Given the description of an element on the screen output the (x, y) to click on. 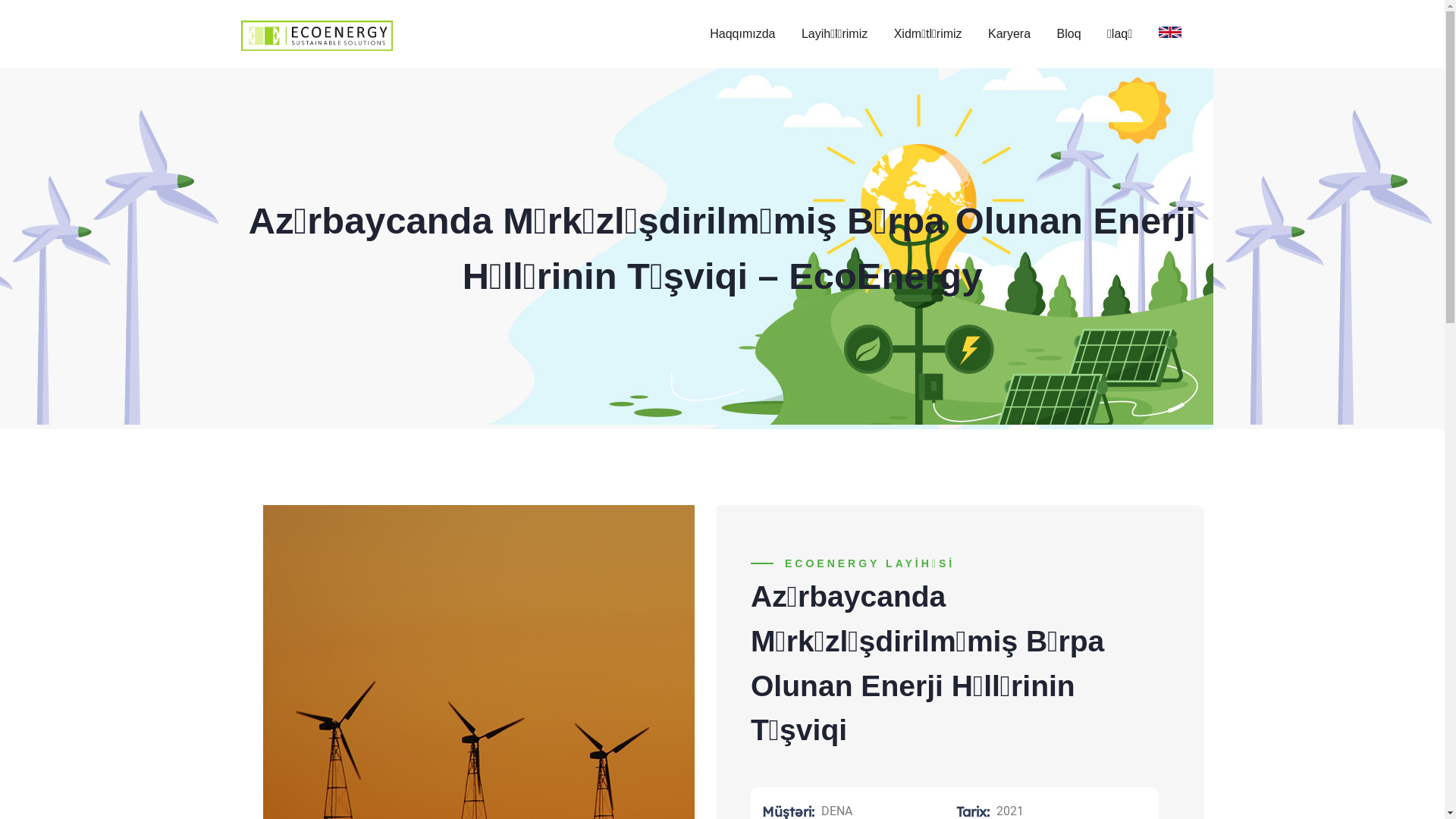
Bloq Element type: text (1069, 34)
Karyera Element type: text (1009, 34)
